Given the description of an element on the screen output the (x, y) to click on. 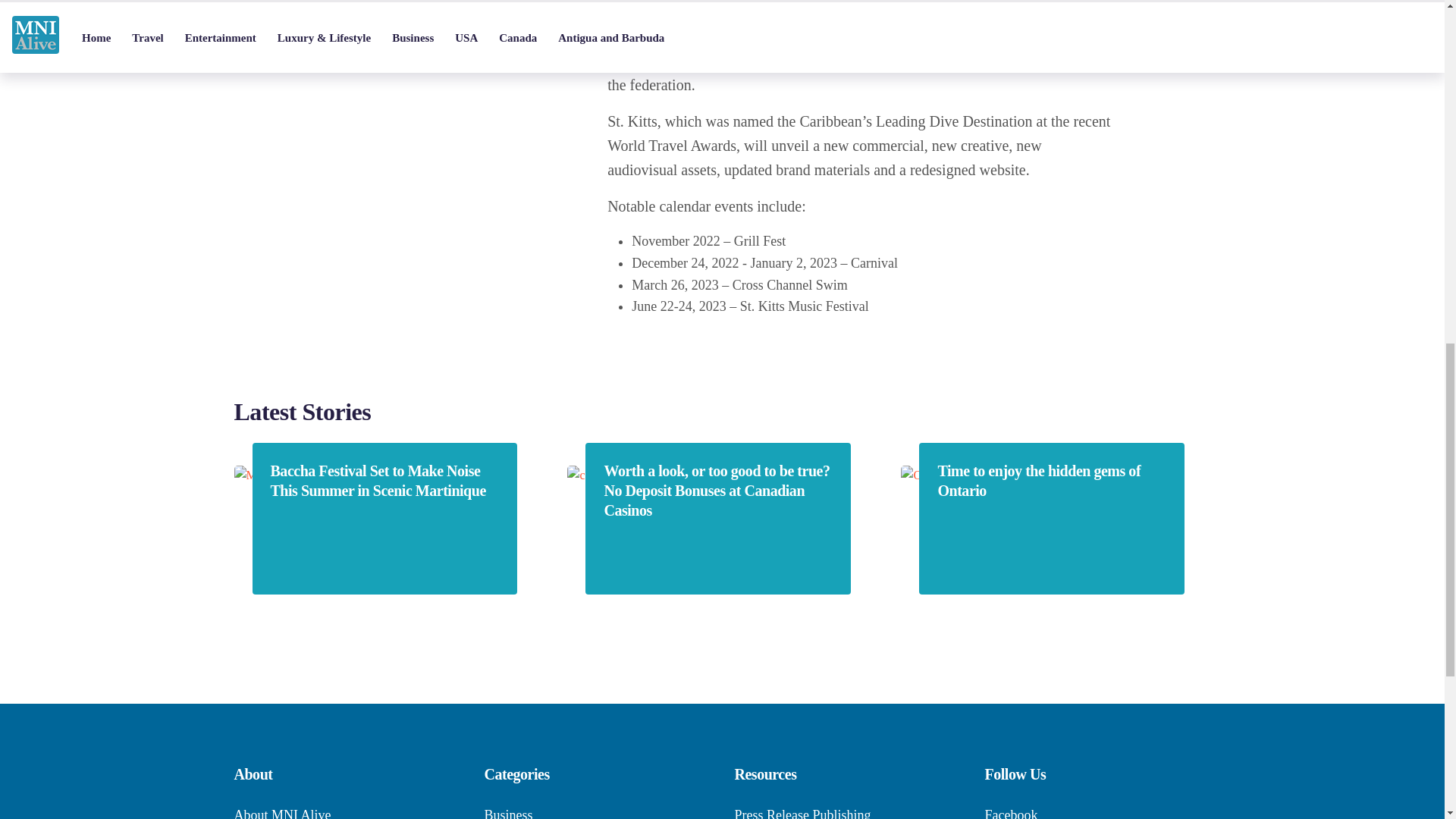
Facebook (1010, 813)
About MNI Alive (281, 813)
Business (507, 813)
Time to enjoy the hidden gems of Ontario (1051, 480)
Press Release Publishing (801, 813)
